Given the description of an element on the screen output the (x, y) to click on. 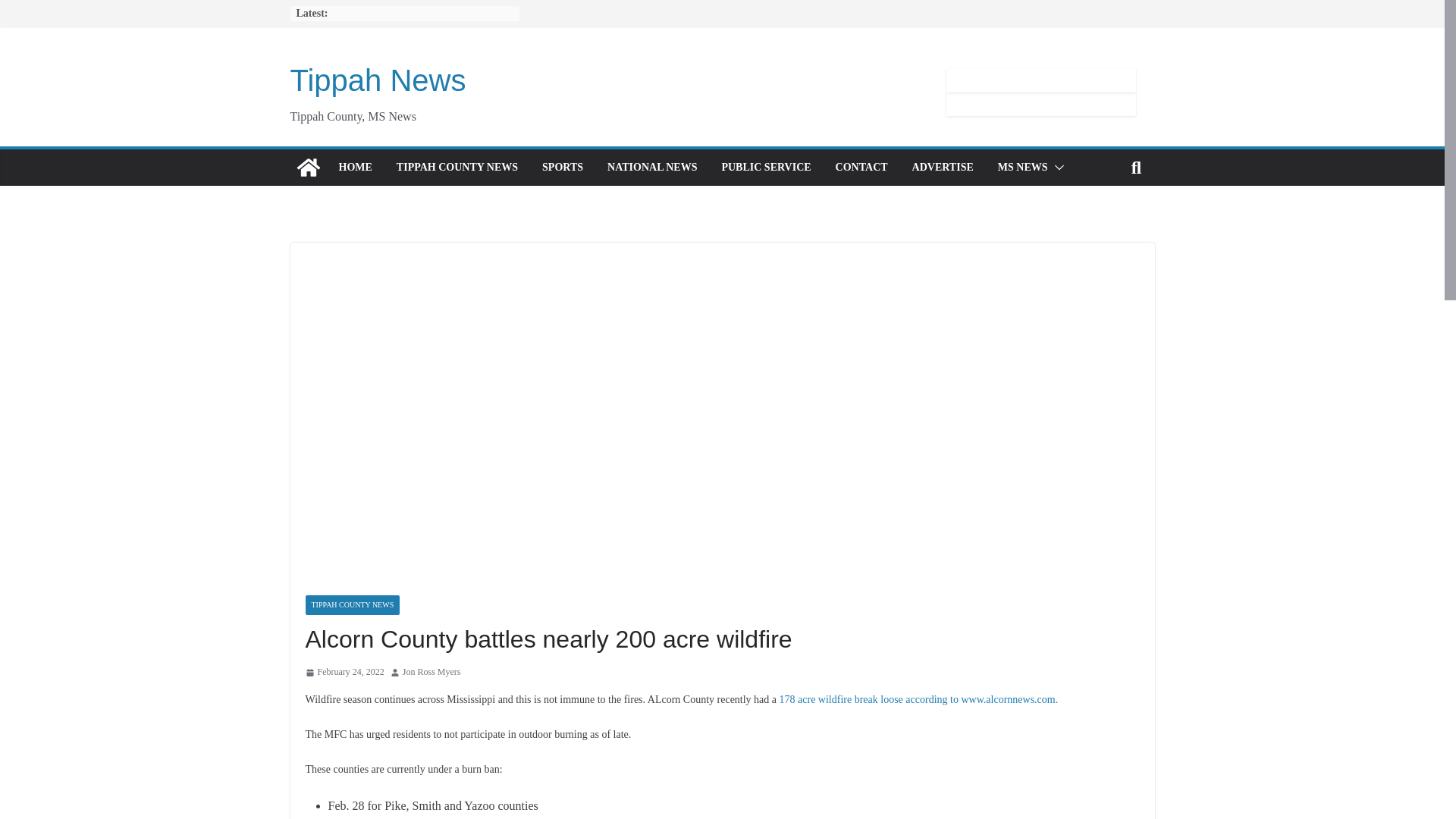
Tippah News (377, 80)
Jon Ross Myers (432, 672)
TIPPAH COUNTY NEWS (457, 167)
Tippah News (307, 167)
TIPPAH COUNTY NEWS (351, 605)
MS NEWS (1022, 167)
ADVERTISE (943, 167)
PUBLIC SERVICE (765, 167)
Tippah News (377, 80)
9:33 pm (344, 672)
CONTACT (861, 167)
February 24, 2022 (344, 672)
HOME (354, 167)
SPORTS (562, 167)
